Given the description of an element on the screen output the (x, y) to click on. 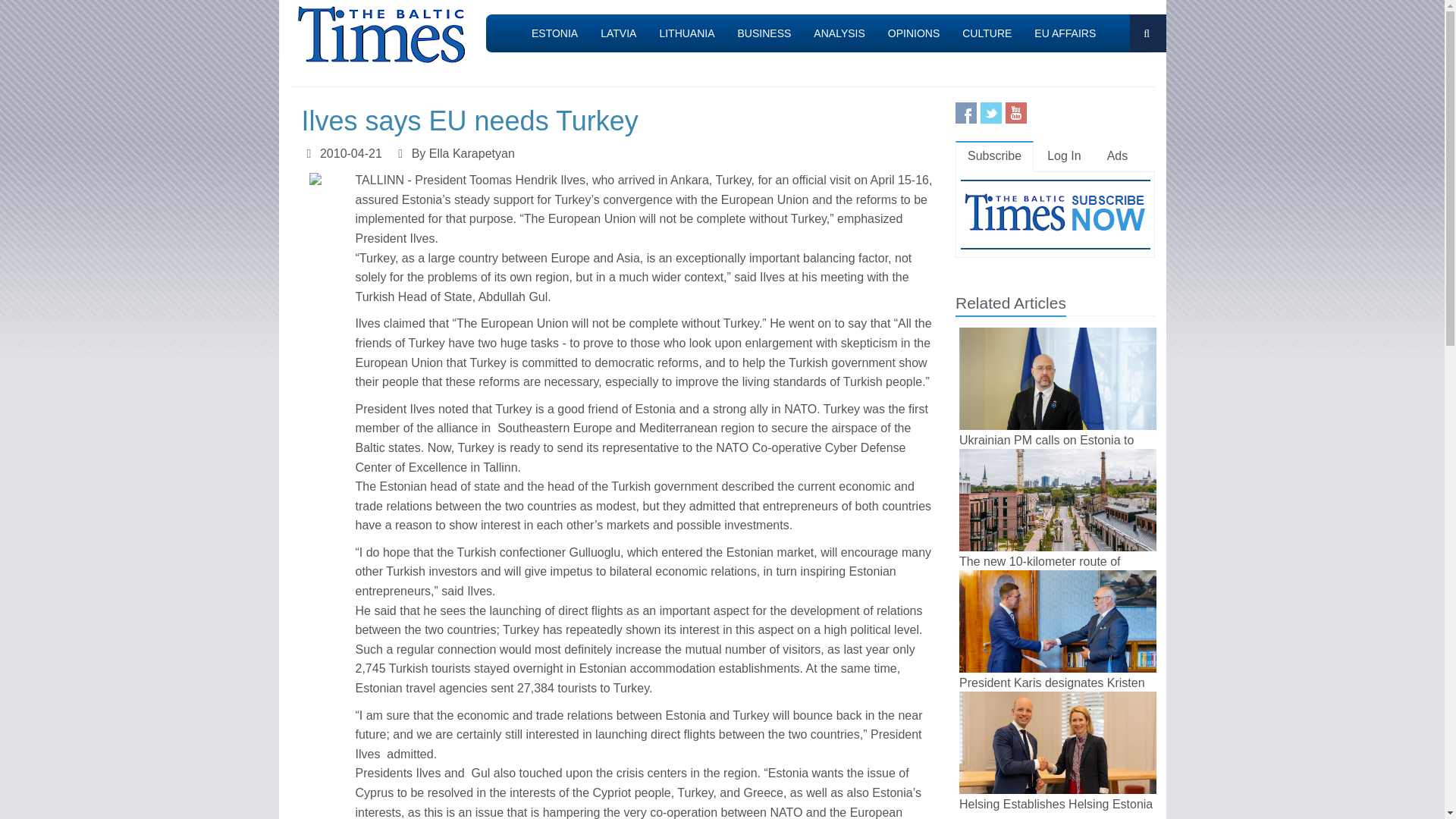
ESTONIA (554, 33)
Subscribe (994, 155)
Log In (1064, 155)
ANALYSIS (839, 33)
CULTURE (986, 33)
LATVIA (618, 33)
LITHUANIA (686, 33)
OPINIONS (913, 33)
BUSINESS (764, 33)
